Given the description of an element on the screen output the (x, y) to click on. 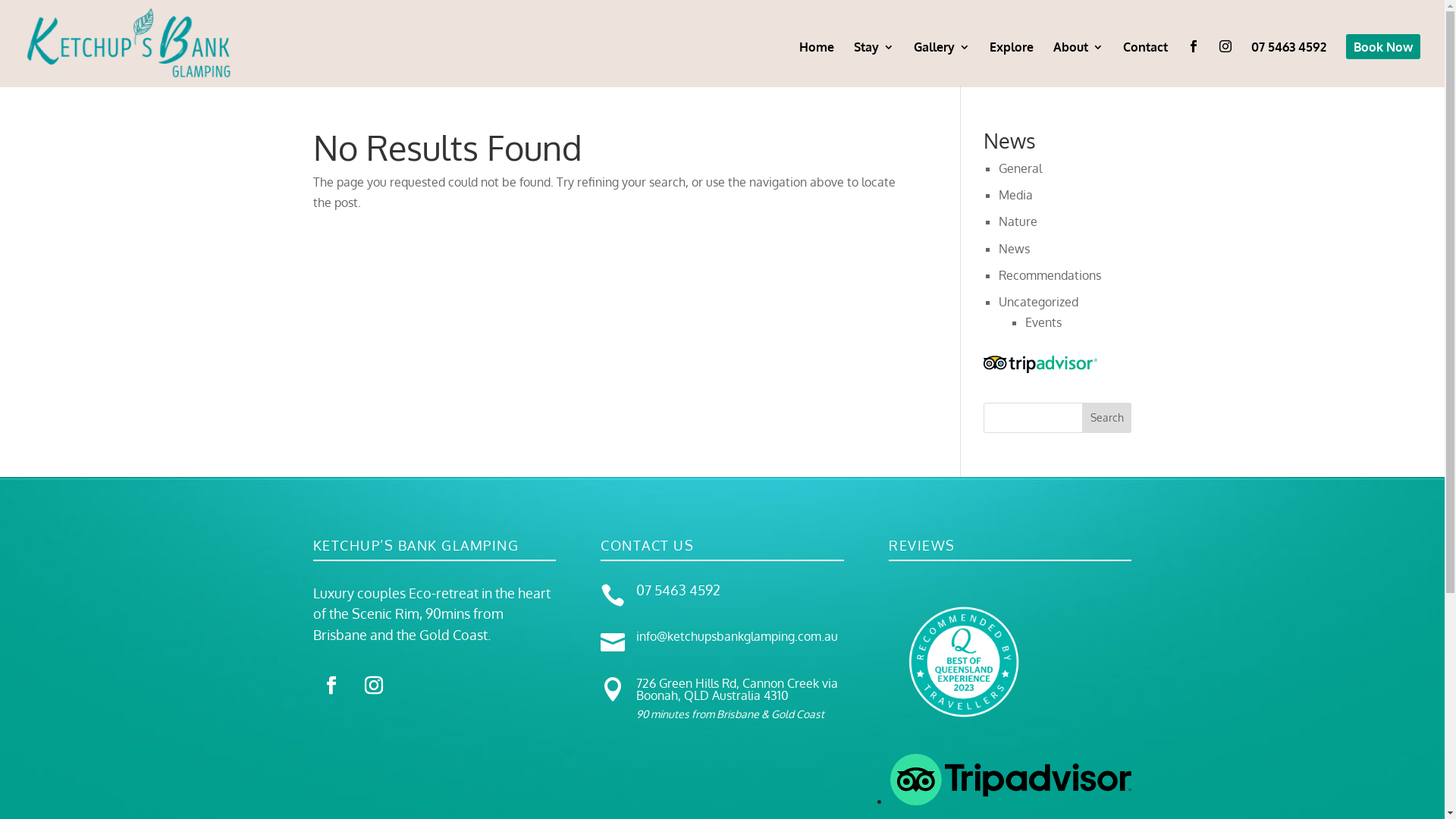
Nature Element type: text (1017, 221)
Gallery Element type: text (941, 63)
Stay Element type: text (873, 63)
Uncategorized Element type: text (1038, 301)
Explore Element type: text (1011, 63)
Contact Element type: text (1145, 63)
About Element type: text (1078, 63)
info@ketchupsbankglamping.com.au Element type: text (736, 635)
BOQEPStamp2023 Element type: hover (962, 657)
Home Element type: text (816, 63)
07 5463 4592 Element type: text (678, 589)
Events Element type: text (1043, 321)
Book Now Element type: text (1382, 63)
General Element type: text (1019, 167)
Follow on Facebook Element type: hover (330, 685)
Search Element type: text (1107, 416)
07 5463 4592 Element type: text (1288, 63)
Follow on Instagram Element type: hover (372, 685)
Media Element type: text (1015, 194)
News Element type: text (1013, 248)
Recommendations Element type: text (1049, 274)
